Given the description of an element on the screen output the (x, y) to click on. 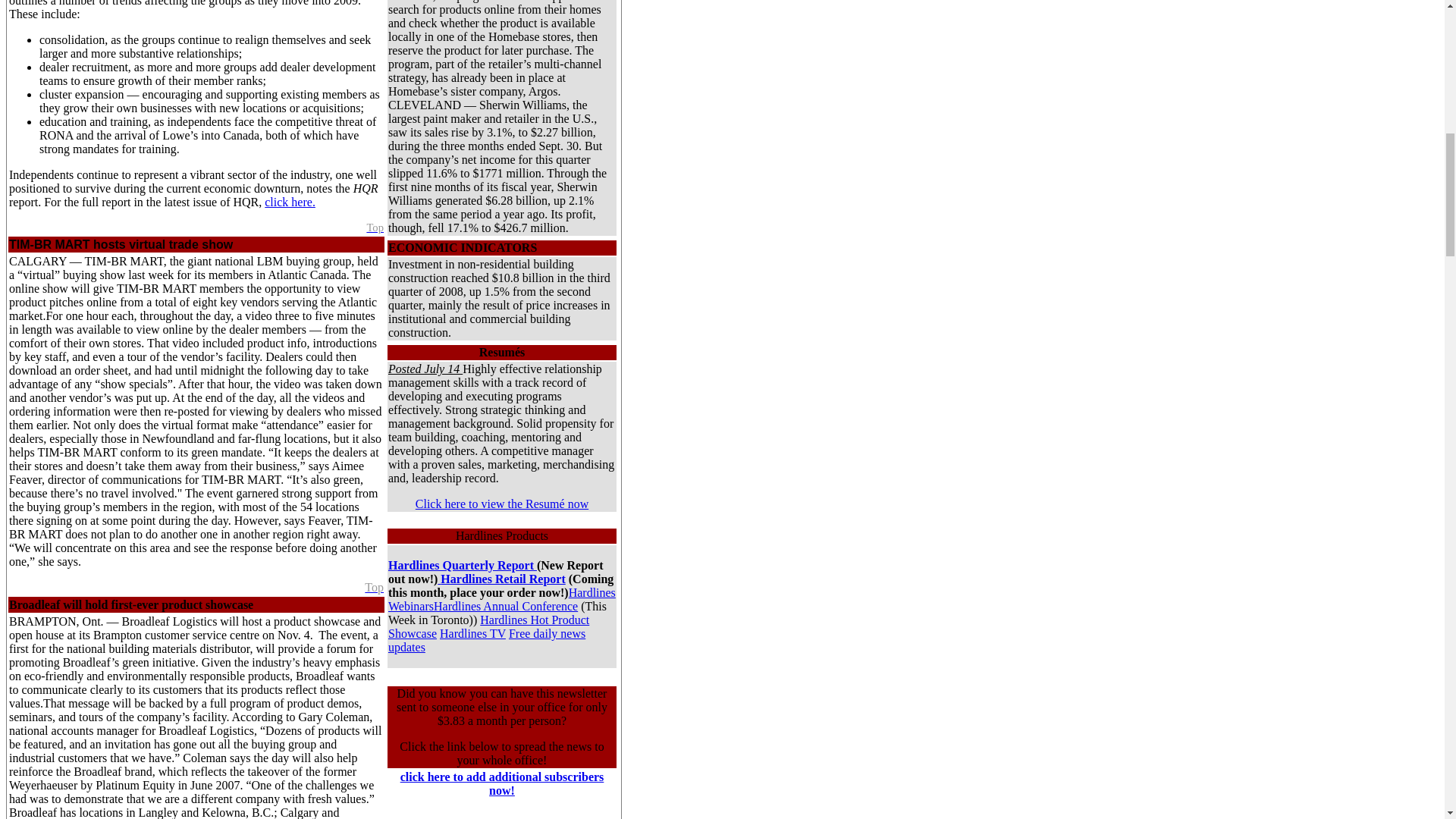
Top (374, 586)
click here. (289, 201)
Top (375, 227)
